Given the description of an element on the screen output the (x, y) to click on. 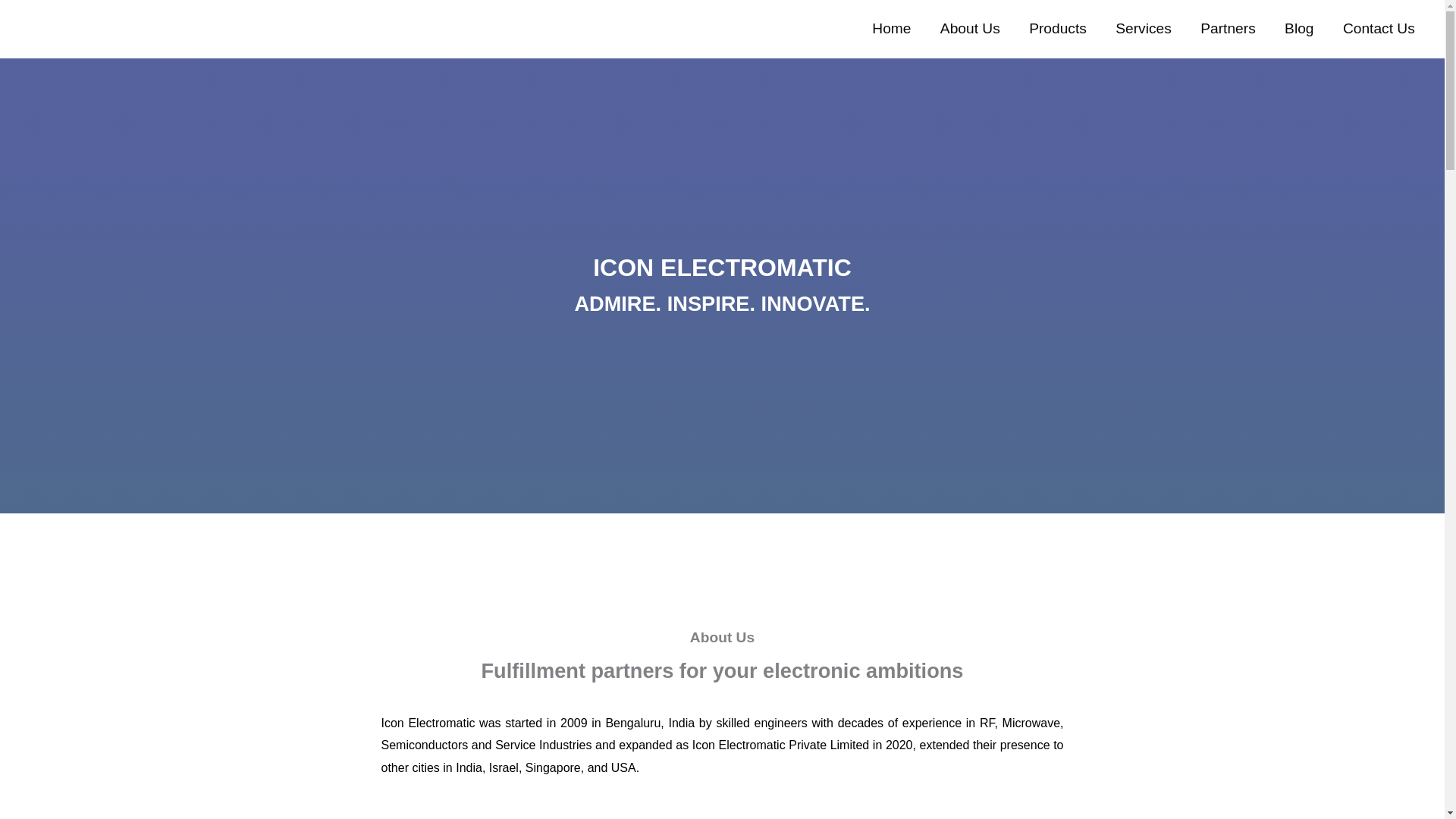
Home (891, 29)
Blog (1298, 29)
Products (1057, 29)
Services (1143, 29)
Contact Us (1378, 29)
About Us (970, 29)
Partners (1227, 29)
